Given the description of an element on the screen output the (x, y) to click on. 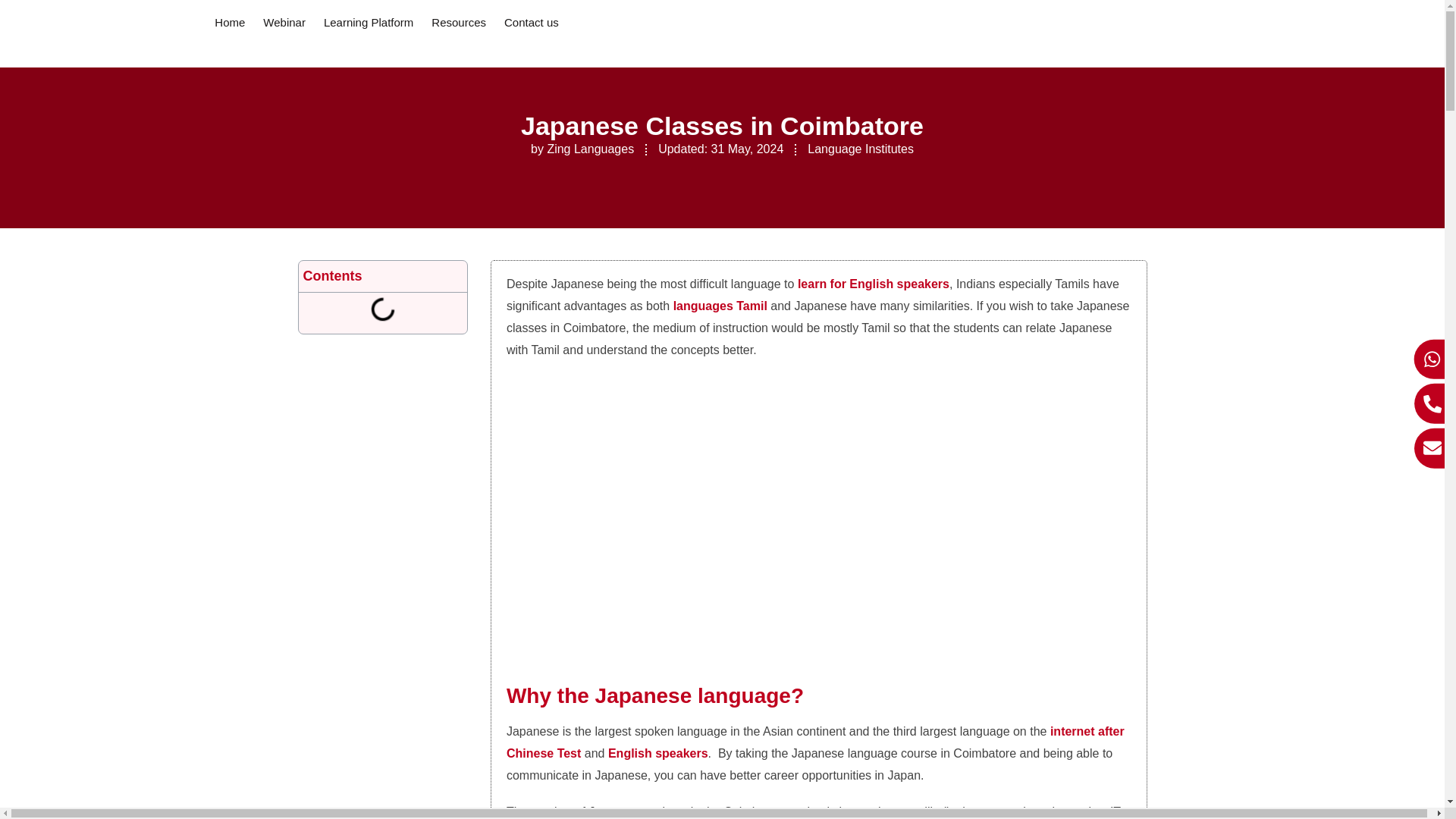
learn for English speakers (873, 283)
Contact us (531, 22)
Language Institutes (861, 148)
Learning Platform (368, 22)
internet after Chinese Test (815, 742)
Resources (459, 22)
Webinar (284, 22)
languages Tamil (719, 305)
Home (229, 22)
English speakers (657, 753)
